Given the description of an element on the screen output the (x, y) to click on. 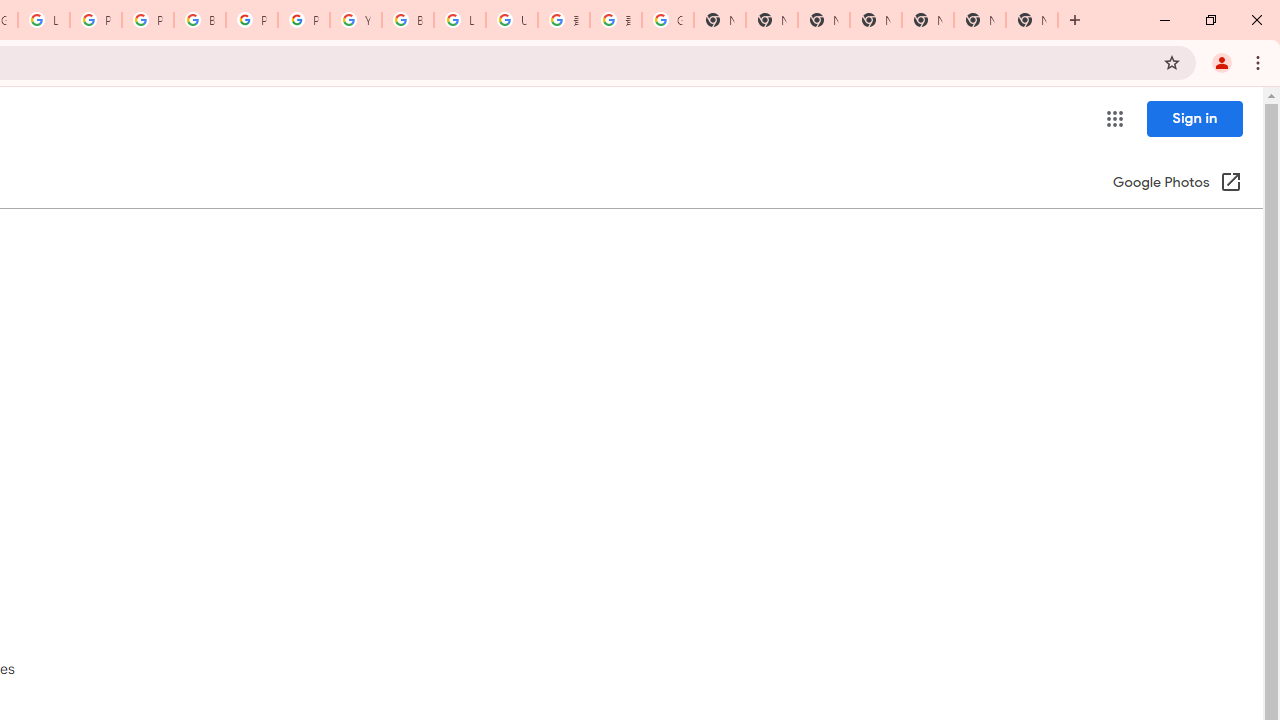
New Tab (875, 20)
Privacy Help Center - Policies Help (147, 20)
YouTube (355, 20)
Privacy Help Center - Policies Help (95, 20)
Google Photos (Open in a new window) (1177, 183)
